Given the description of an element on the screen output the (x, y) to click on. 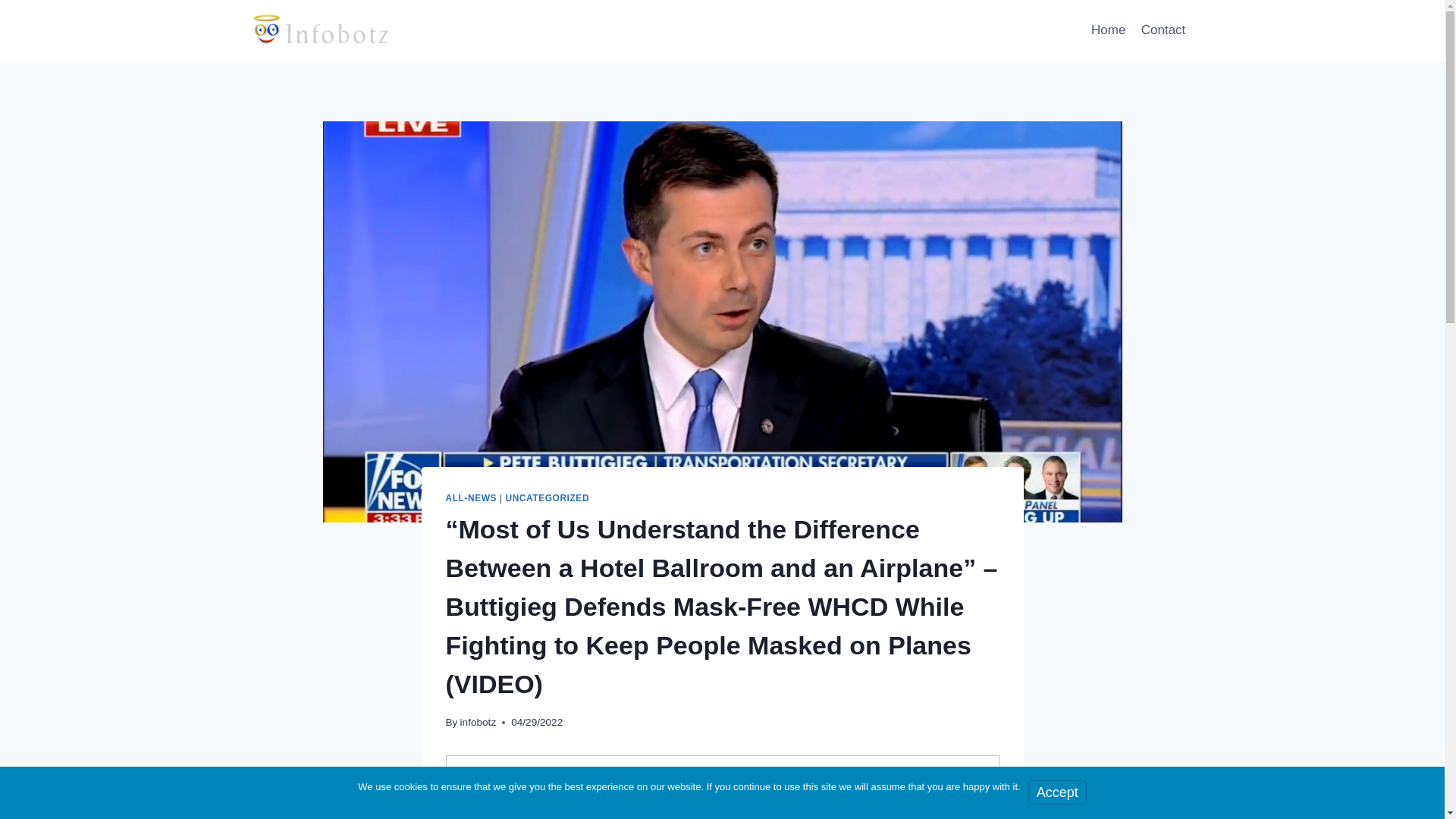
infobotz (478, 722)
Contact (1163, 30)
Accept (1056, 792)
Home (1108, 30)
UNCATEGORIZED (547, 498)
ALL-NEWS (471, 498)
